Given the description of an element on the screen output the (x, y) to click on. 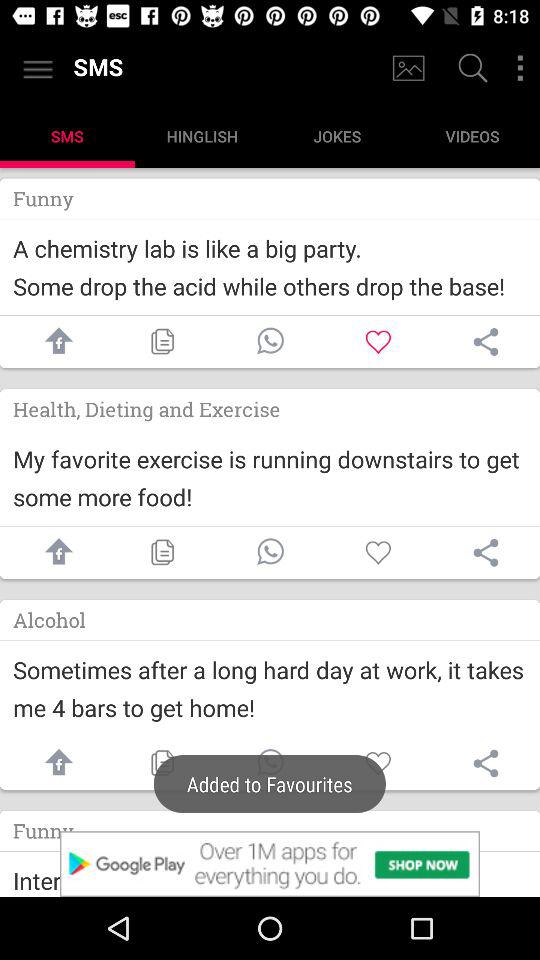
contact opption (270, 763)
